Given the description of an element on the screen output the (x, y) to click on. 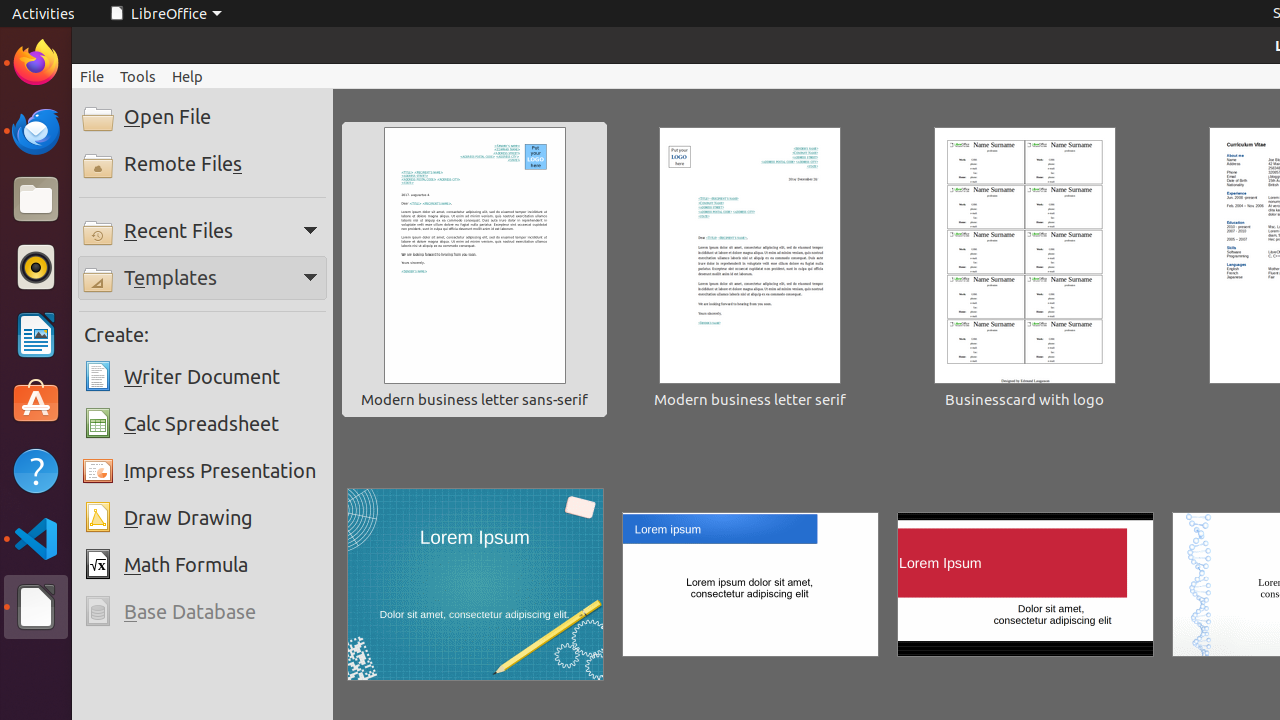
Tools Element type: menu (138, 76)
Modern business letter serif Element type: list-item (750, 270)
File Element type: menu (92, 76)
Base Database Element type: push-button (202, 612)
